Given the description of an element on the screen output the (x, y) to click on. 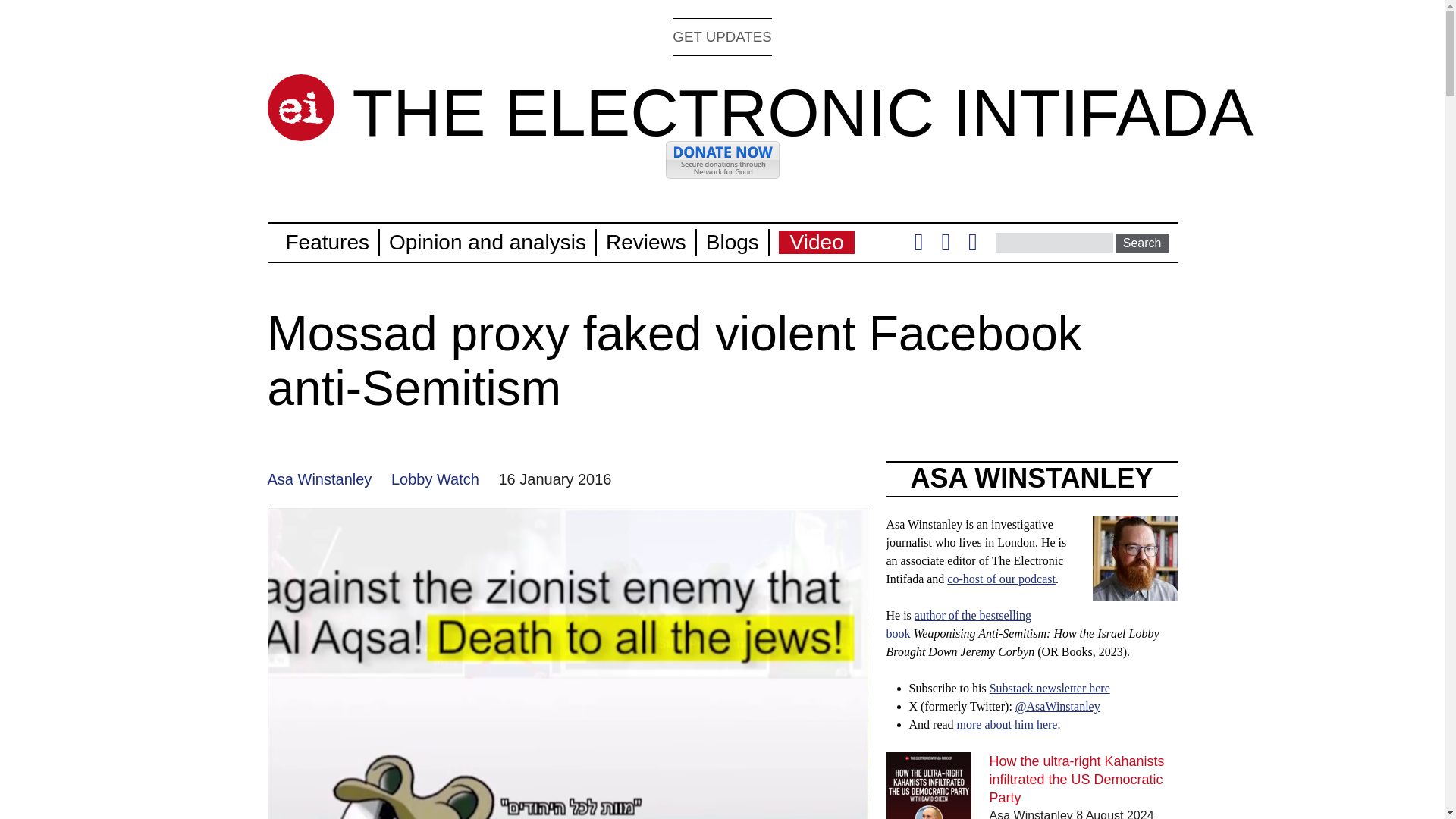
Asa Winstanley (318, 478)
THE ELECTRONIC INTIFADA (802, 112)
Asa Winstanley's picture (1134, 590)
GET UPDATES (721, 37)
Home (299, 107)
Lobby Watch (435, 478)
Enter the terms you wish to search for. (1054, 242)
Search (1142, 243)
Home (802, 112)
Asa Winstanley's picture (1134, 557)
